Given the description of an element on the screen output the (x, y) to click on. 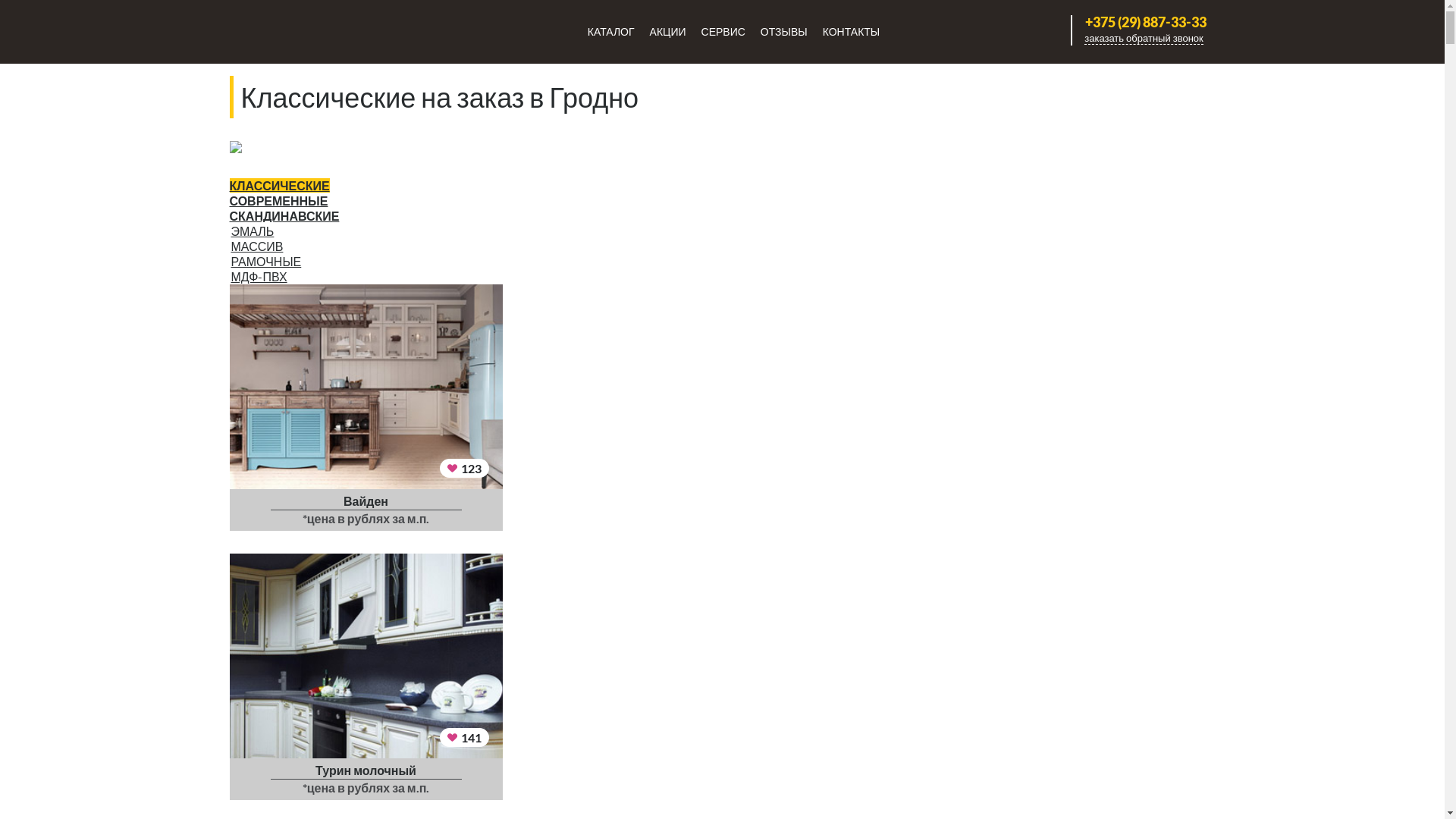
141 Element type: text (464, 737)
141 Element type: text (365, 655)
123 Element type: text (365, 386)
+375 (29) 887-33-33 Element type: text (1143, 22)
123 Element type: text (464, 468)
